Given the description of an element on the screen output the (x, y) to click on. 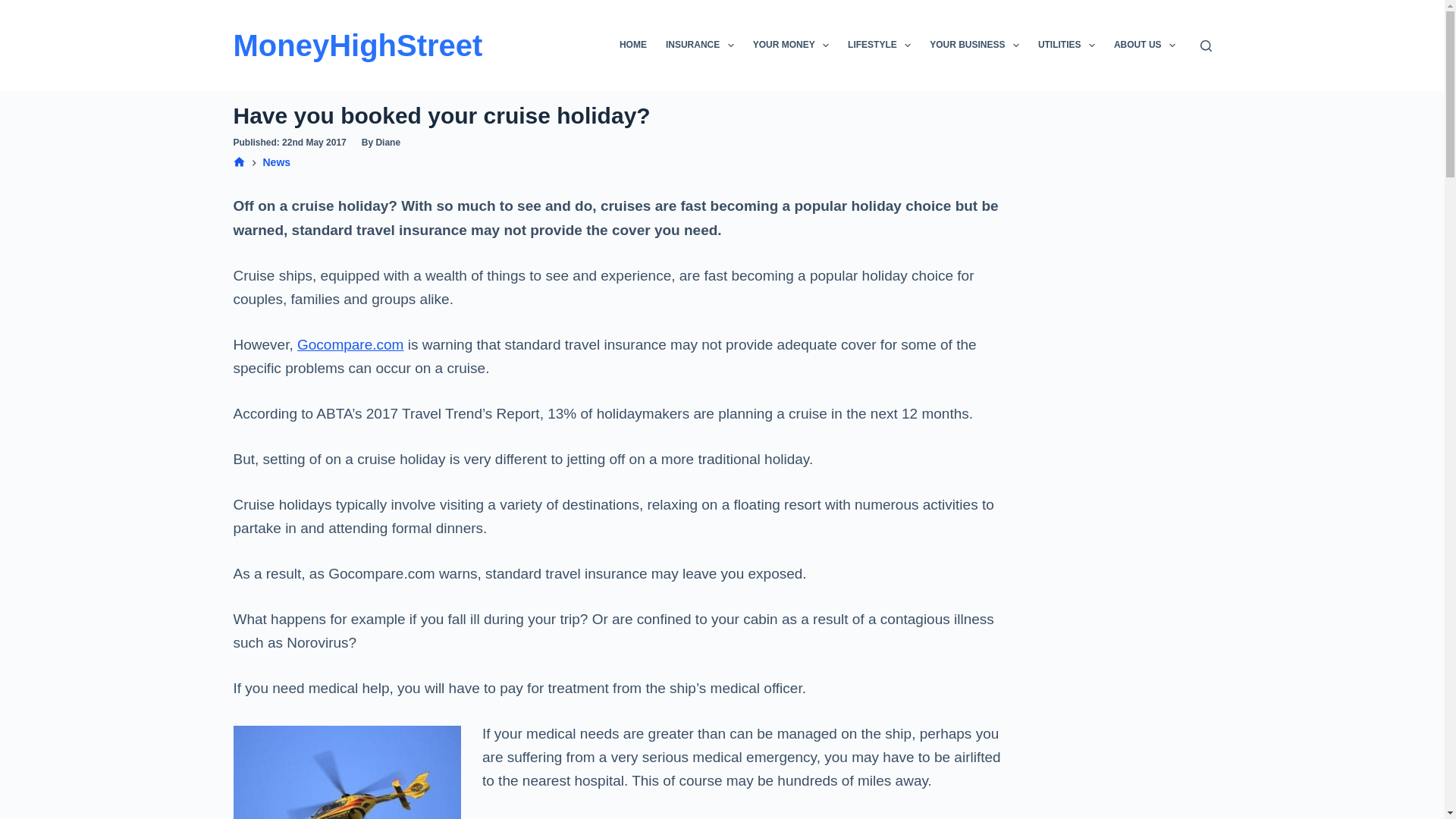
Posts by Diane (387, 142)
Have you booked your cruise holiday? (624, 115)
Skip to content (15, 7)
